Given the description of an element on the screen output the (x, y) to click on. 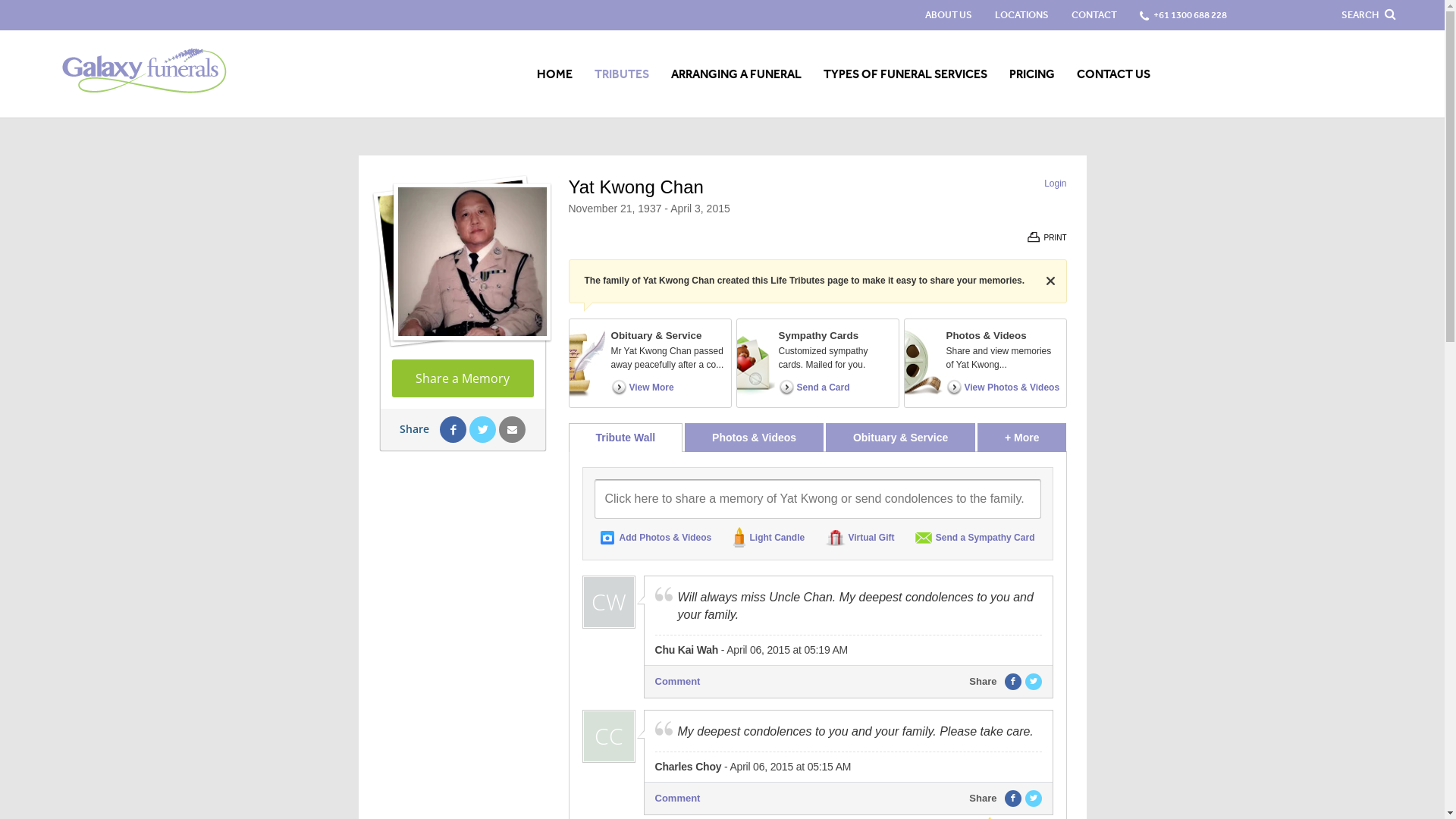
CONTACT US Element type: text (1113, 73)
CONTACT Element type: text (1093, 14)
Light Candle Element type: text (768, 537)
+ More
Information Element type: text (1021, 437)
ABOUT US Element type: text (948, 14)
Share on Twitter Element type: text (482, 429)
TRIBUTES Element type: text (621, 73)
Virtual Gift Element type: text (859, 537)
Share this post on Twitter Element type: text (1033, 798)
Share this post on Facebook Element type: text (1012, 681)
ARRANGING A FUNERAL Element type: text (736, 73)
HOME Element type: text (554, 73)
SEARCH Element type: text (1368, 15)
Comment Element type: text (677, 798)
Share by Email Element type: text (511, 429)
TYPES OF FUNERAL SERVICES Element type: text (905, 73)
Share on Facebook Element type: text (452, 429)
Photos & Videos Element type: text (753, 437)
PRINT Element type: text (1046, 237)
LOCATIONS Element type: text (1021, 14)
PRICING Element type: text (1031, 73)
Tribute Wall Element type: text (625, 437)
Send a Sympathy Card Element type: text (975, 537)
Hide message Element type: text (1050, 280)
Login Element type: text (1055, 184)
Obituary & Service Element type: text (900, 437)
Share a Memory Element type: text (462, 378)
+61 1300 688 228 Element type: text (1189, 14)
Share this post on Twitter Element type: text (1033, 681)
Add Photos & Videos Element type: text (656, 537)
Share this post on Facebook Element type: text (1012, 798)
Comment Element type: text (677, 681)
